Given the description of an element on the screen output the (x, y) to click on. 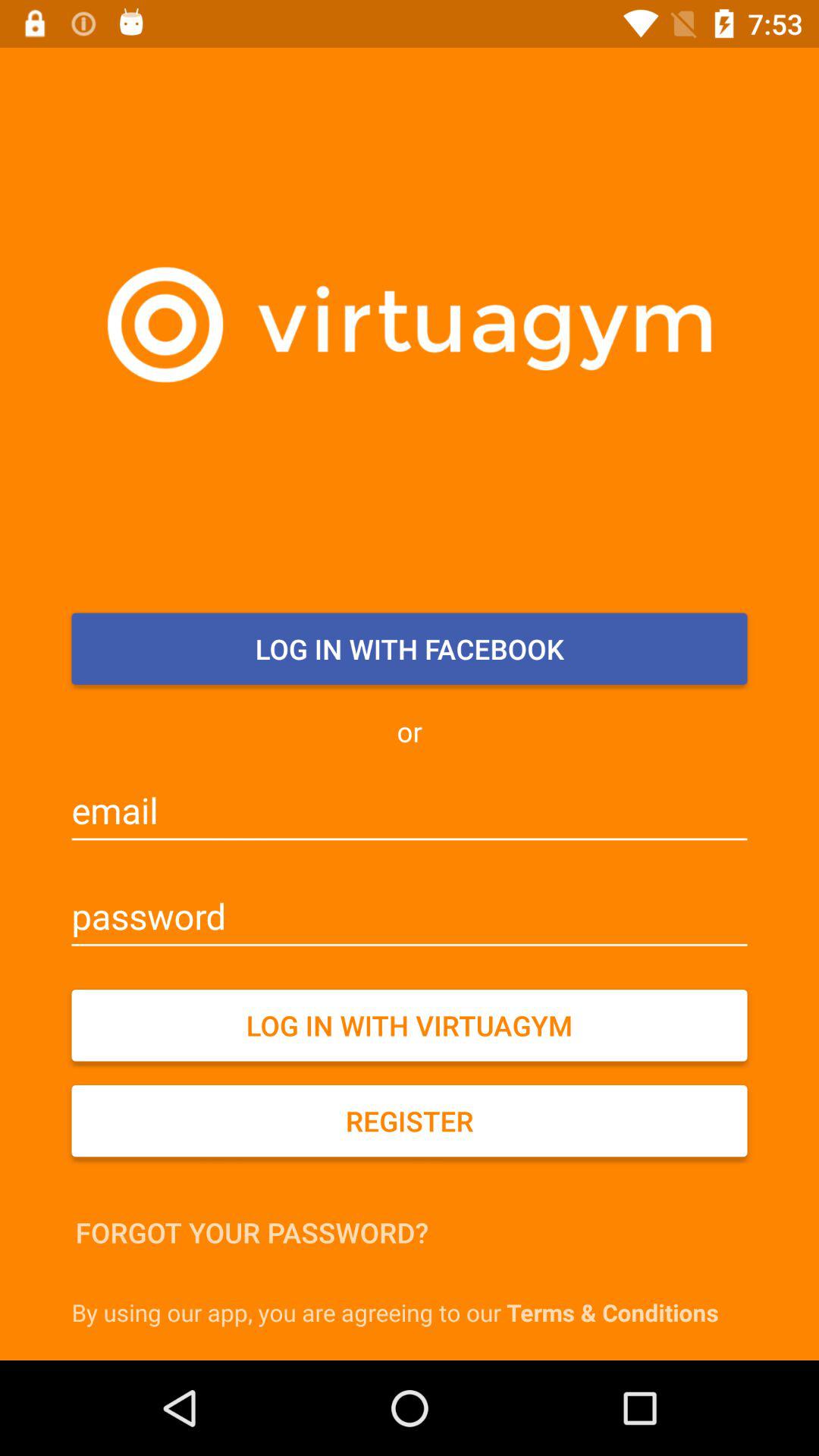
choose the icon below the or (409, 810)
